Given the description of an element on the screen output the (x, y) to click on. 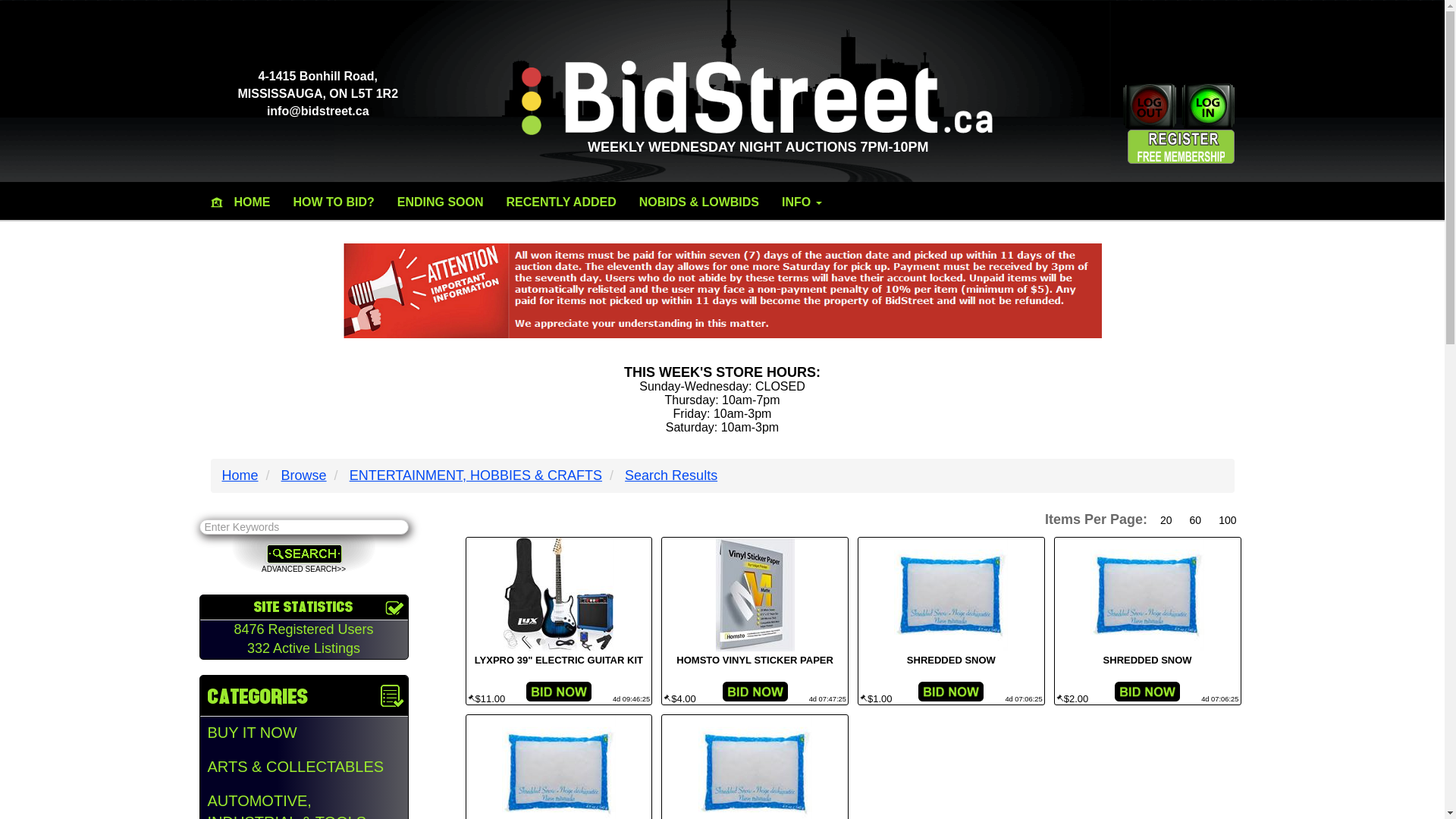
ADVANCED SEARCH Element type: text (303, 569)
20 Element type: text (1166, 520)
BUY IT NOW Element type: text (303, 732)
Sign In Element type: text (1205, 106)
SHREDDED SNOW Element type: text (1147, 662)
Register Element type: text (1188, 145)
Search Element type: text (303, 553)
RECENTLY ADDED Element type: text (561, 202)
Browse Element type: text (303, 475)
100 Element type: text (1227, 520)
LYXPRO 39" ELECTRIC GUITAR KIT Element type: text (558, 662)
HOME Element type: text (252, 202)
HOMSTO VINYL STICKER PAPER Element type: text (754, 662)
NOBIDS & LOWBIDS Element type: text (698, 202)
View All Element type: text (27, 12)
60 Element type: text (1195, 520)
ENDING SOON Element type: text (440, 202)
  Element type: text (1232, 202)
INFO Element type: text (801, 202)
ENTERTAINMENT, HOBBIES & CRAFTS Element type: text (475, 475)
SHREDDED SNOW Element type: text (951, 662)
Search Results Element type: text (670, 475)
HOW TO BID? Element type: text (333, 202)
Home Element type: text (239, 475)
ARTS & COLLECTABLES Element type: text (303, 766)
